Given the description of an element on the screen output the (x, y) to click on. 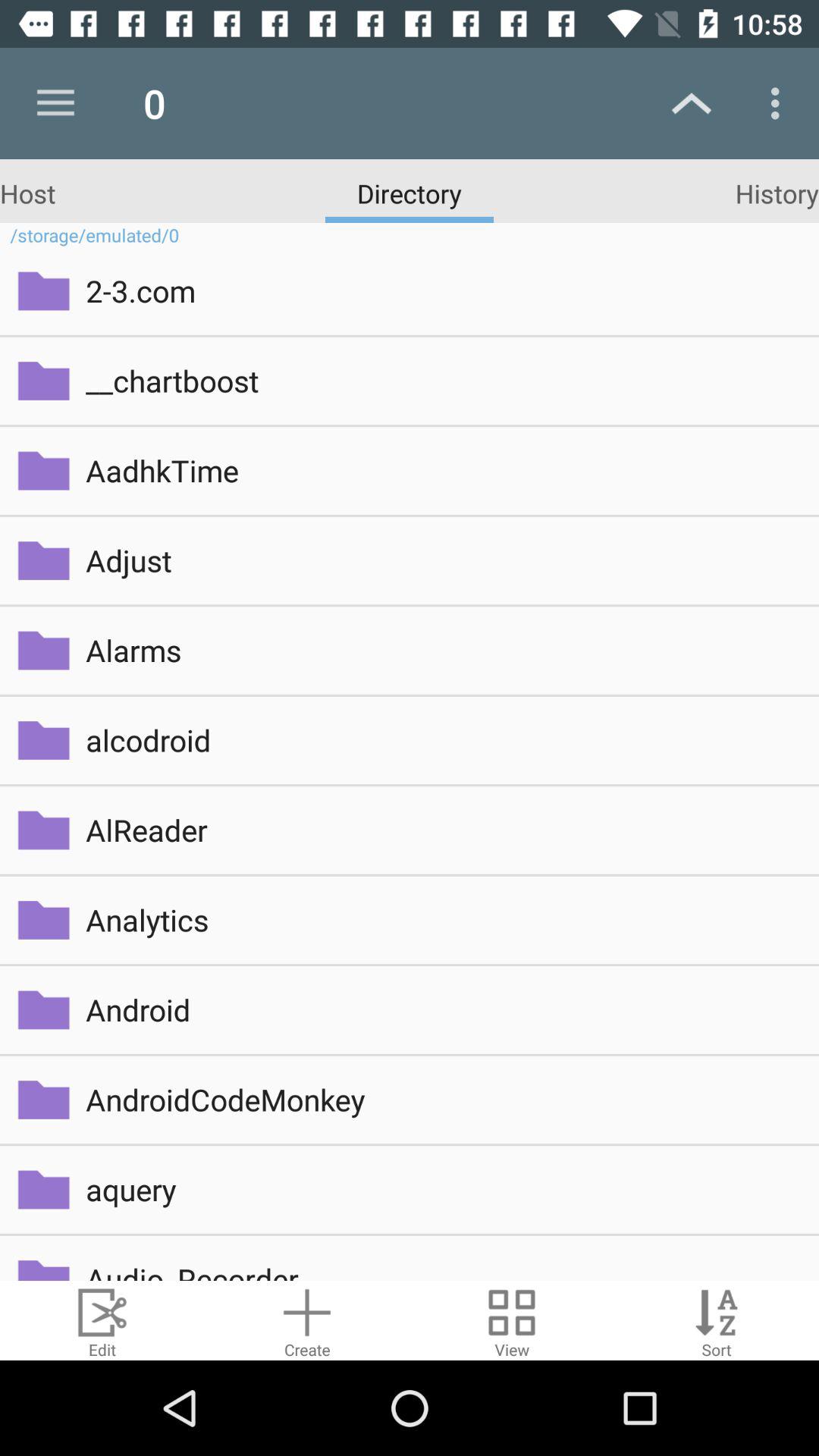
tap the __chartboost icon (441, 380)
